Given the description of an element on the screen output the (x, y) to click on. 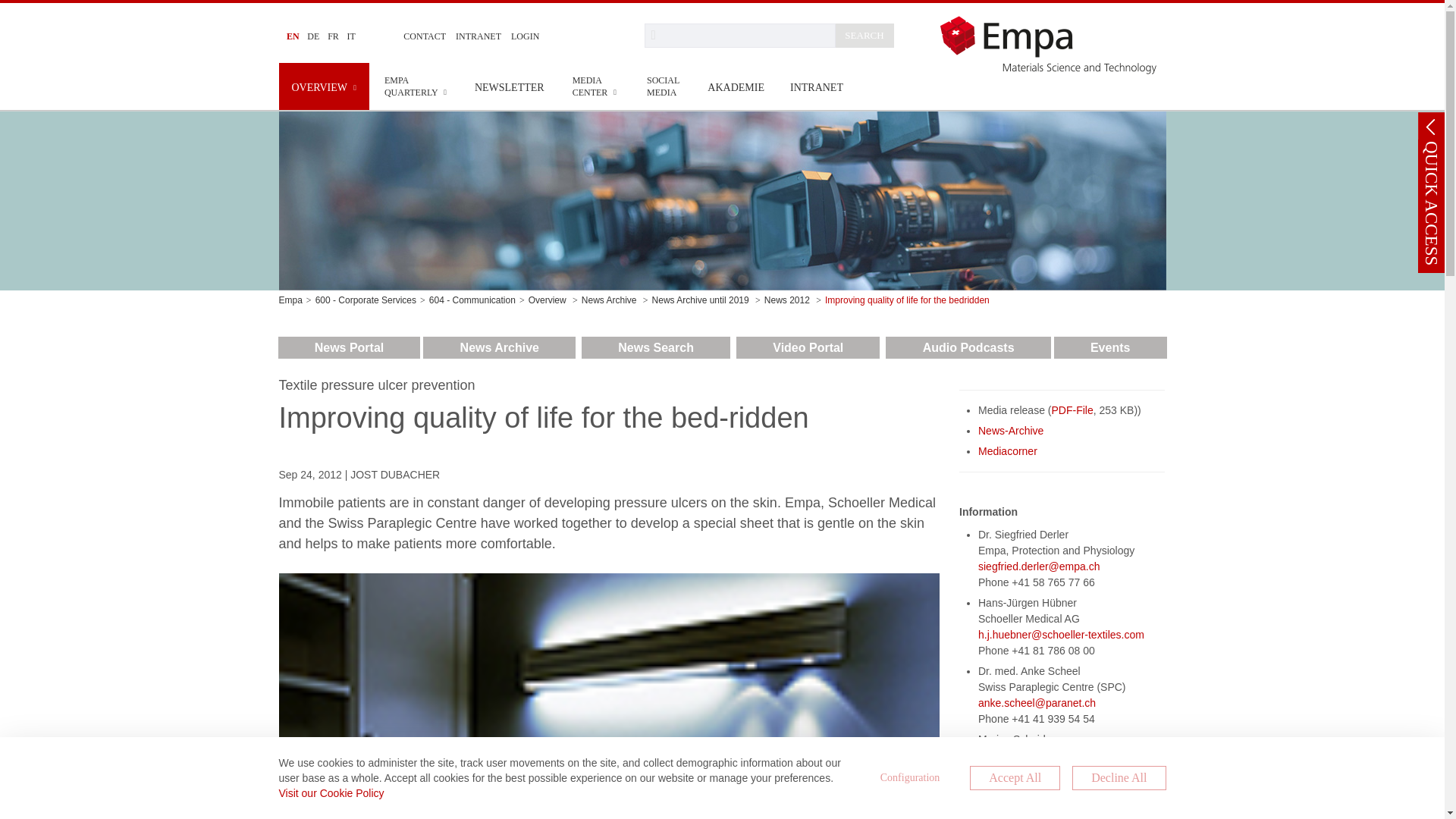
Go to Empa (1052, 44)
News Portal (349, 347)
Video Portal (807, 347)
Search (740, 35)
Skip to Main Content (5, 5)
News Search (655, 347)
News Archive (499, 347)
Audio Podcasts (967, 347)
